Given the description of an element on the screen output the (x, y) to click on. 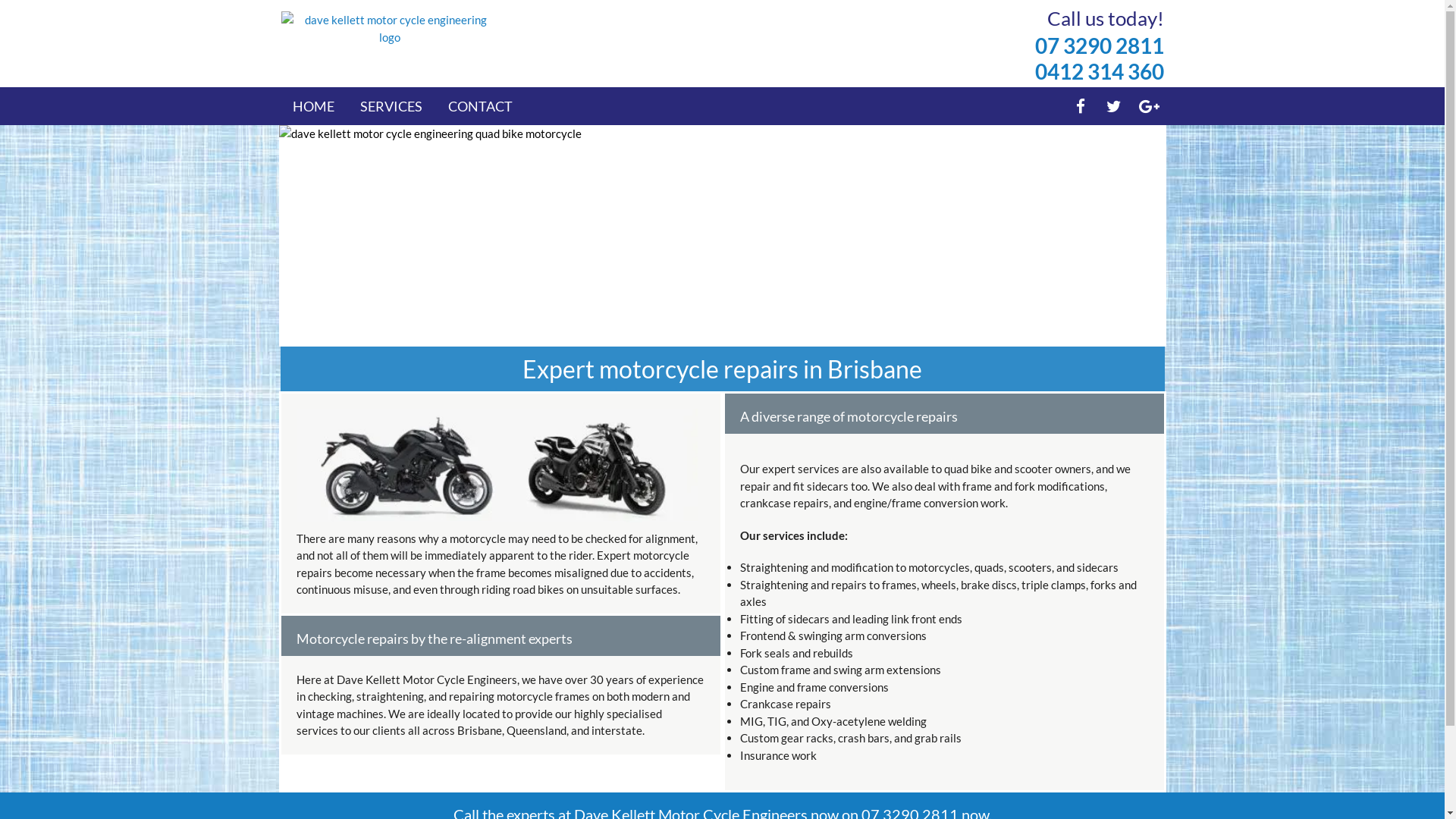
0412 314 360 Element type: text (1098, 71)
dave kellett motor cycle engineering logo Element type: hover (389, 28)
CONTACT Element type: text (479, 105)
HOME Element type: text (313, 105)
SERVICES Element type: text (390, 105)
07 3290 2811 Element type: text (1098, 45)
dave kellett motor cycle engineering bikes Element type: hover (495, 465)
dave kellett motor cycle engineering quad bike motorcycle Element type: hover (722, 236)
